Given the description of an element on the screen output the (x, y) to click on. 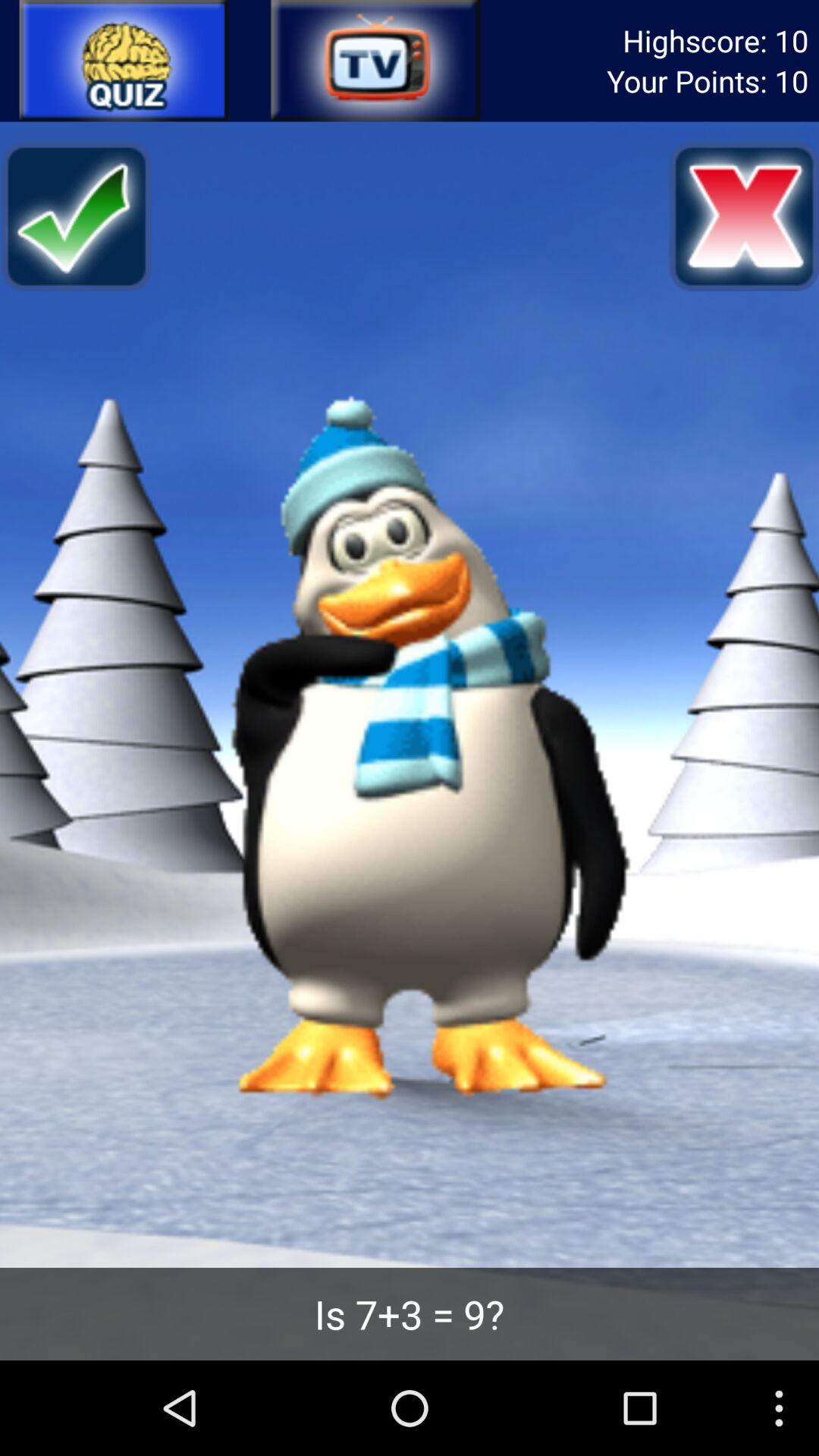
check button (75, 216)
